Given the description of an element on the screen output the (x, y) to click on. 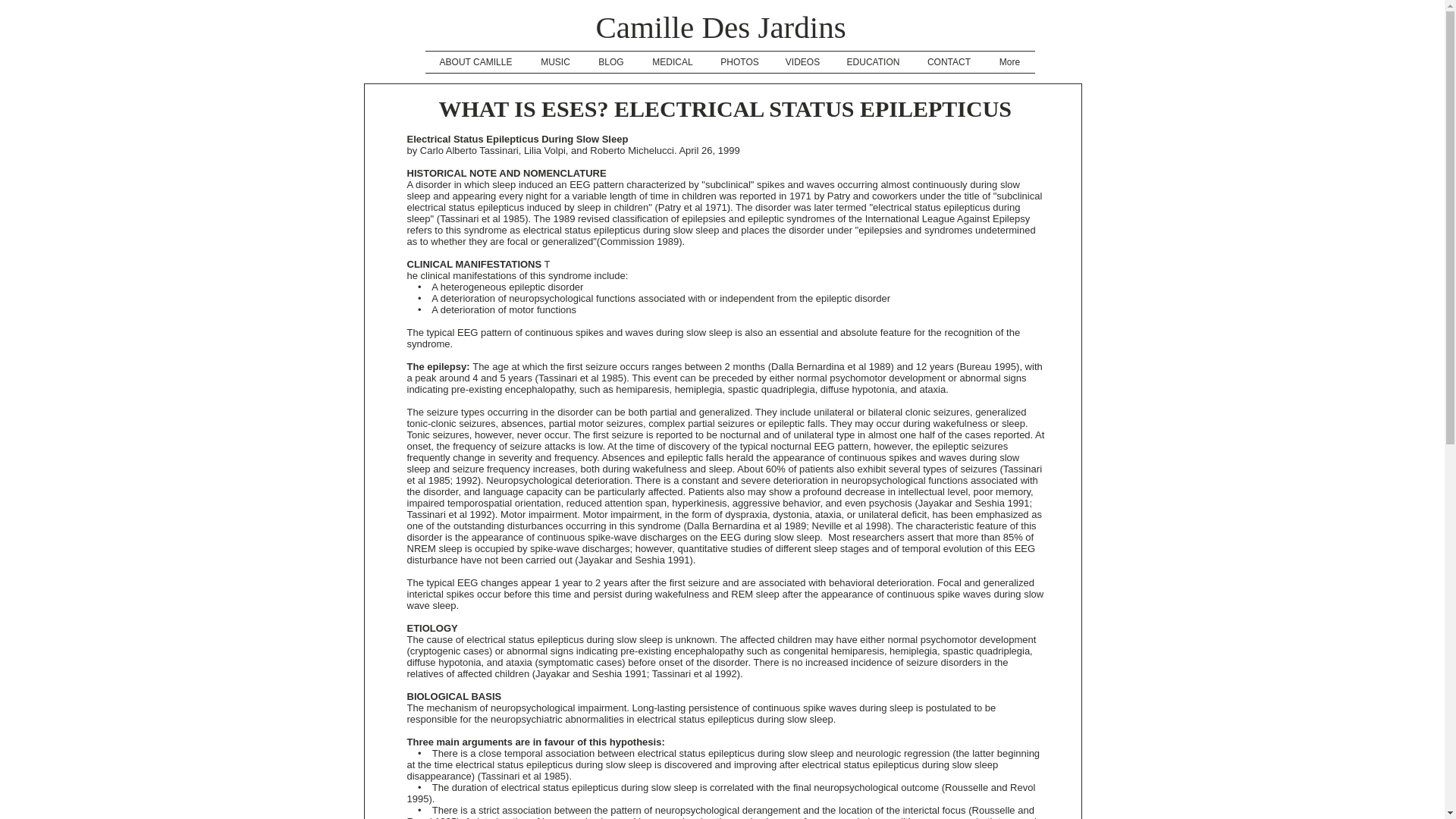
Camille Des Jardins (720, 27)
EDUCATION (872, 61)
BLOG (610, 61)
ABOUT CAMILLE (475, 61)
MEDICAL (673, 61)
CONTACT (948, 61)
PHOTOS (738, 61)
VIDEOS (801, 61)
MUSIC (554, 61)
